Given the description of an element on the screen output the (x, y) to click on. 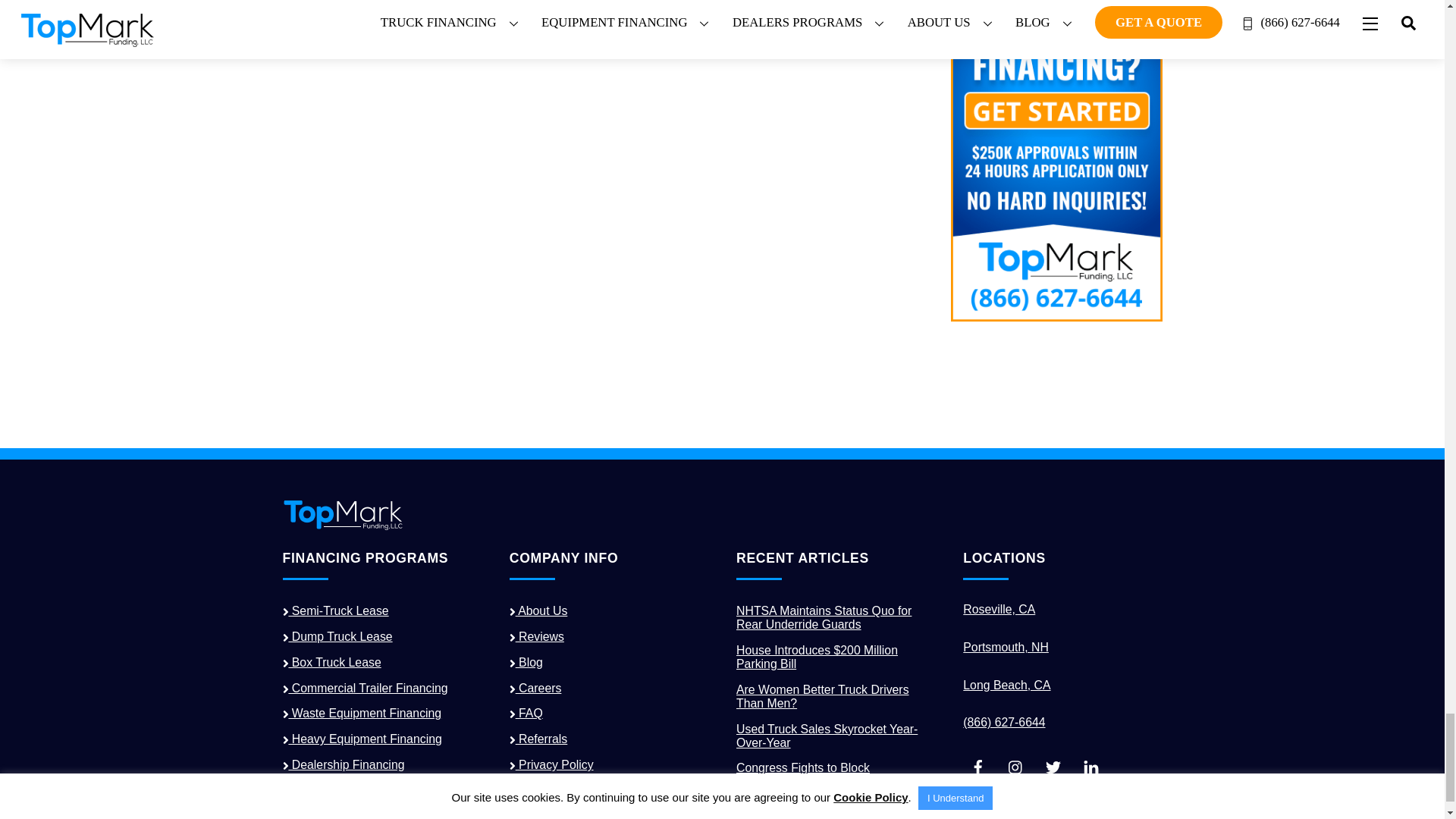
TopMark Funding (342, 524)
